Given the description of an element on the screen output the (x, y) to click on. 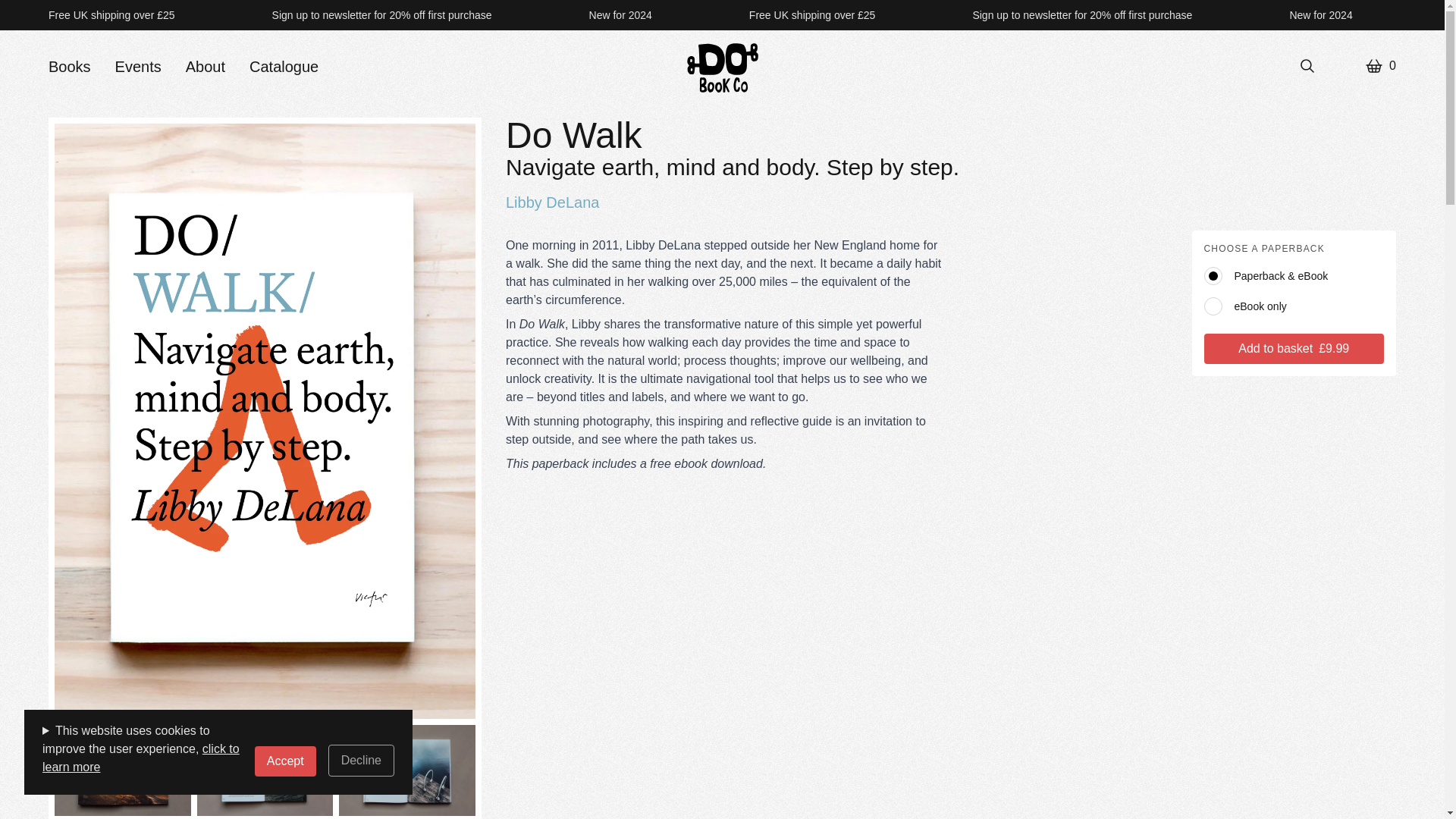
Catalogue (283, 67)
Events (138, 67)
0 (1380, 65)
About (205, 67)
New for 2024 (1320, 15)
New for 2024 (620, 15)
Search (1307, 65)
Books (69, 67)
View basket (1380, 65)
